Given the description of an element on the screen output the (x, y) to click on. 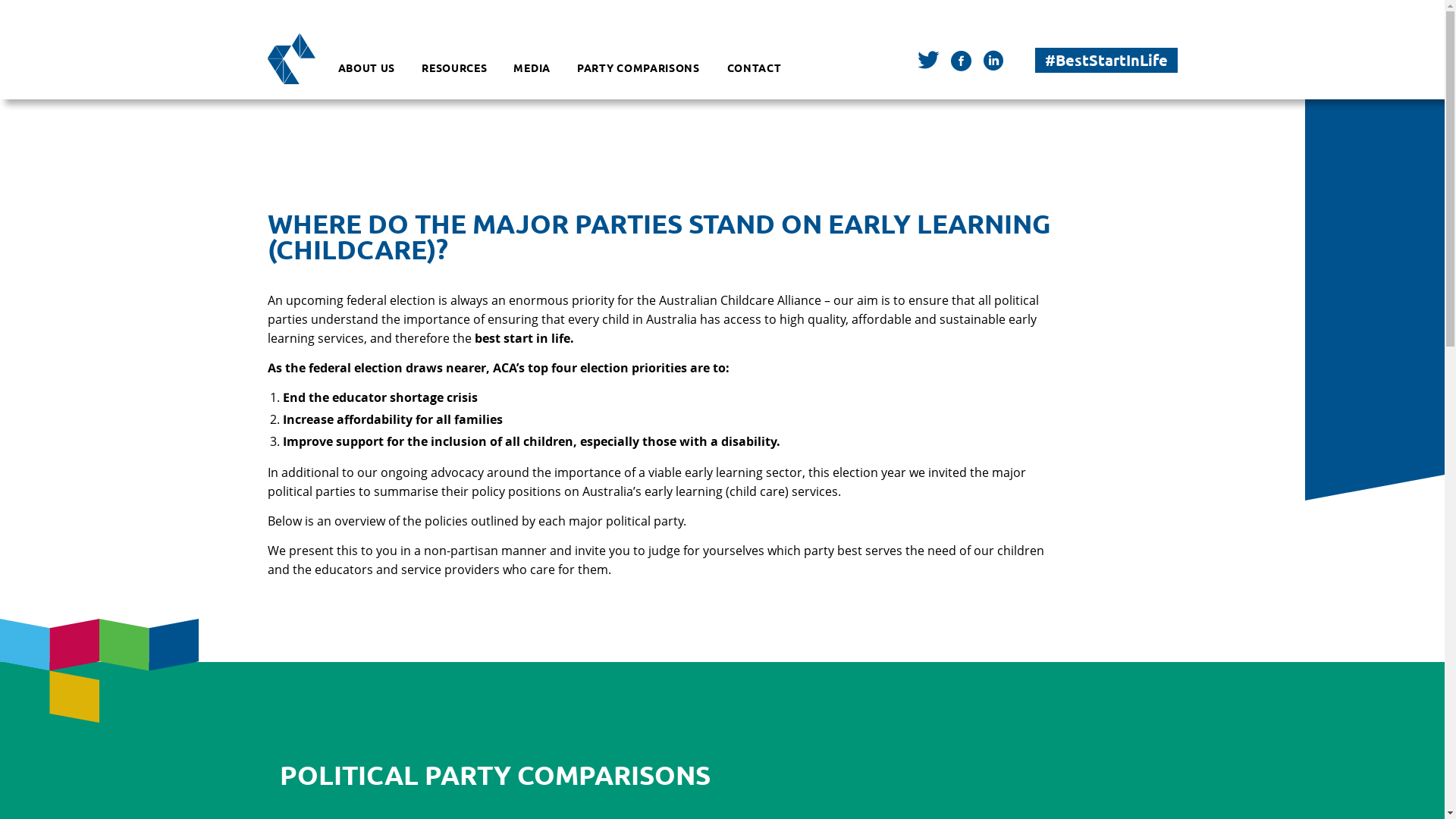
MEDIA Element type: text (531, 68)
PARTY COMPARISONS Element type: text (638, 68)
ABOUT US Element type: text (366, 68)
Linkedin Element type: hover (992, 63)
CONTACT Element type: text (753, 68)
RESOURCES Element type: text (453, 68)
Facebook Element type: hover (960, 64)
Twitter Element type: hover (927, 62)
